Given the description of an element on the screen output the (x, y) to click on. 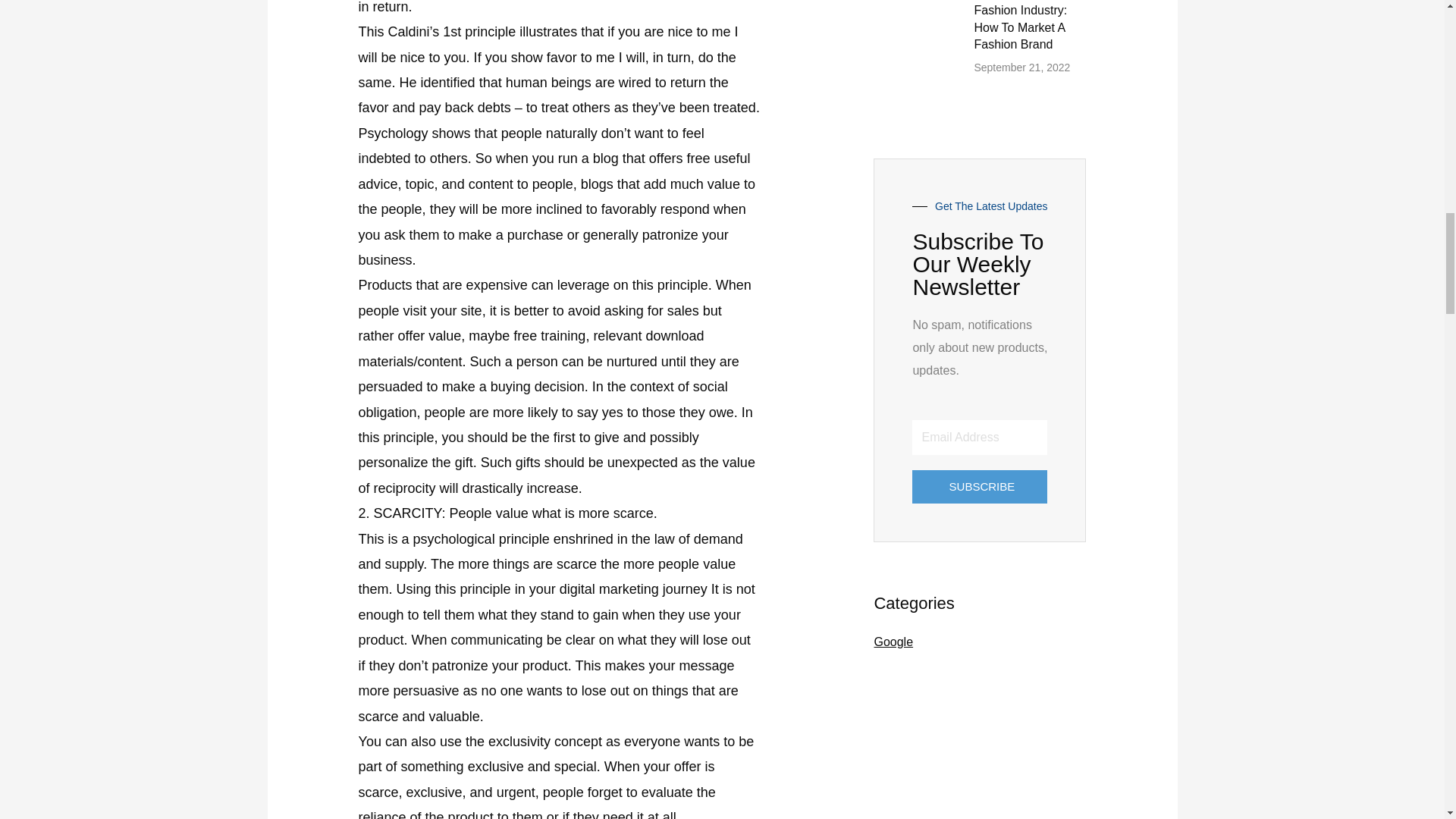
SUBSCRIBE (979, 486)
Google (892, 642)
